Given the description of an element on the screen output the (x, y) to click on. 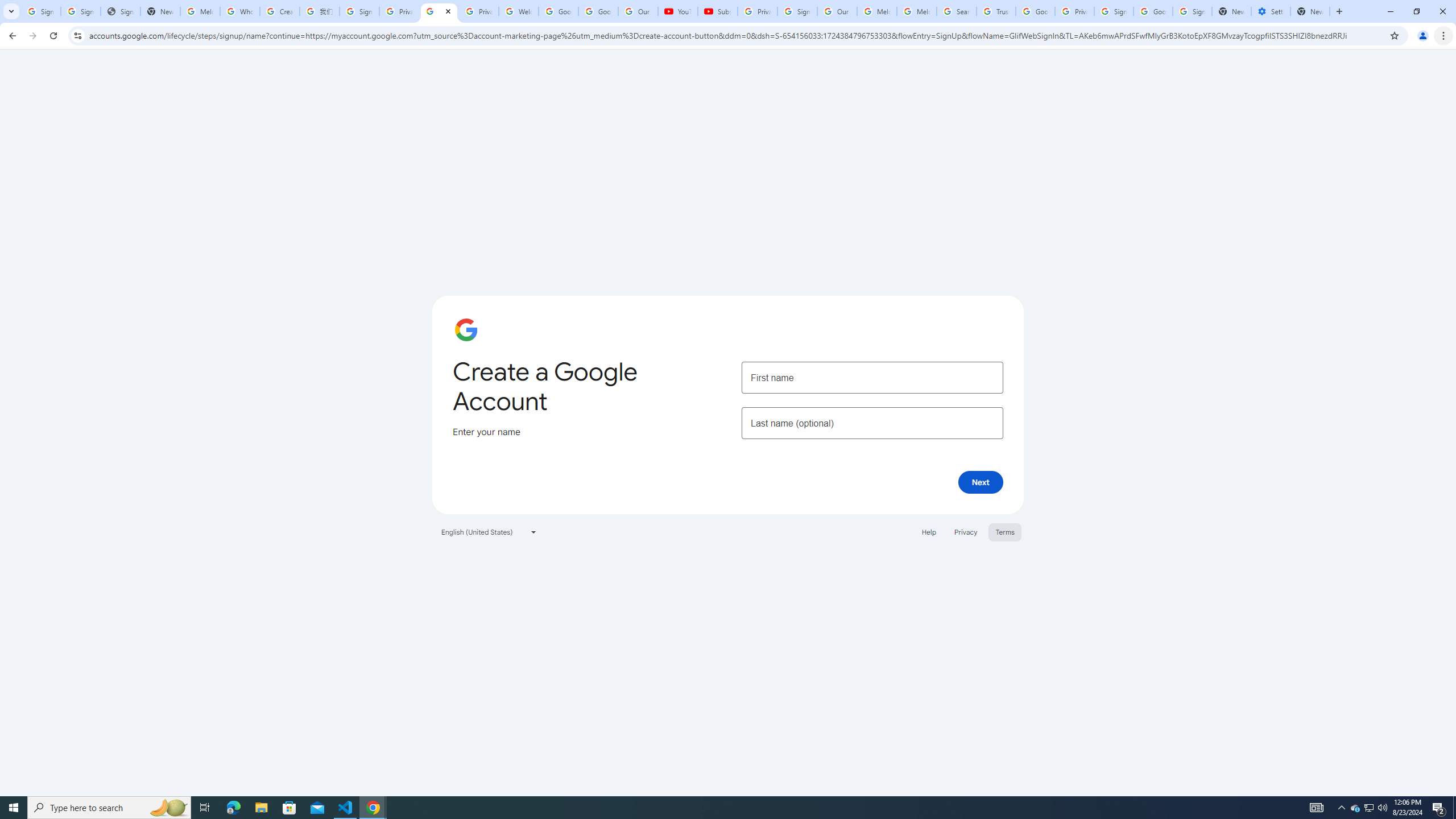
Create your Google Account (279, 11)
Settings - Addresses and more (1270, 11)
Who is my administrator? - Google Account Help (239, 11)
New Tab (1310, 11)
English (United States) (489, 531)
Google Ads - Sign in (1034, 11)
Google Cybersecurity Innovations - Google Safety Center (1152, 11)
